Given the description of an element on the screen output the (x, y) to click on. 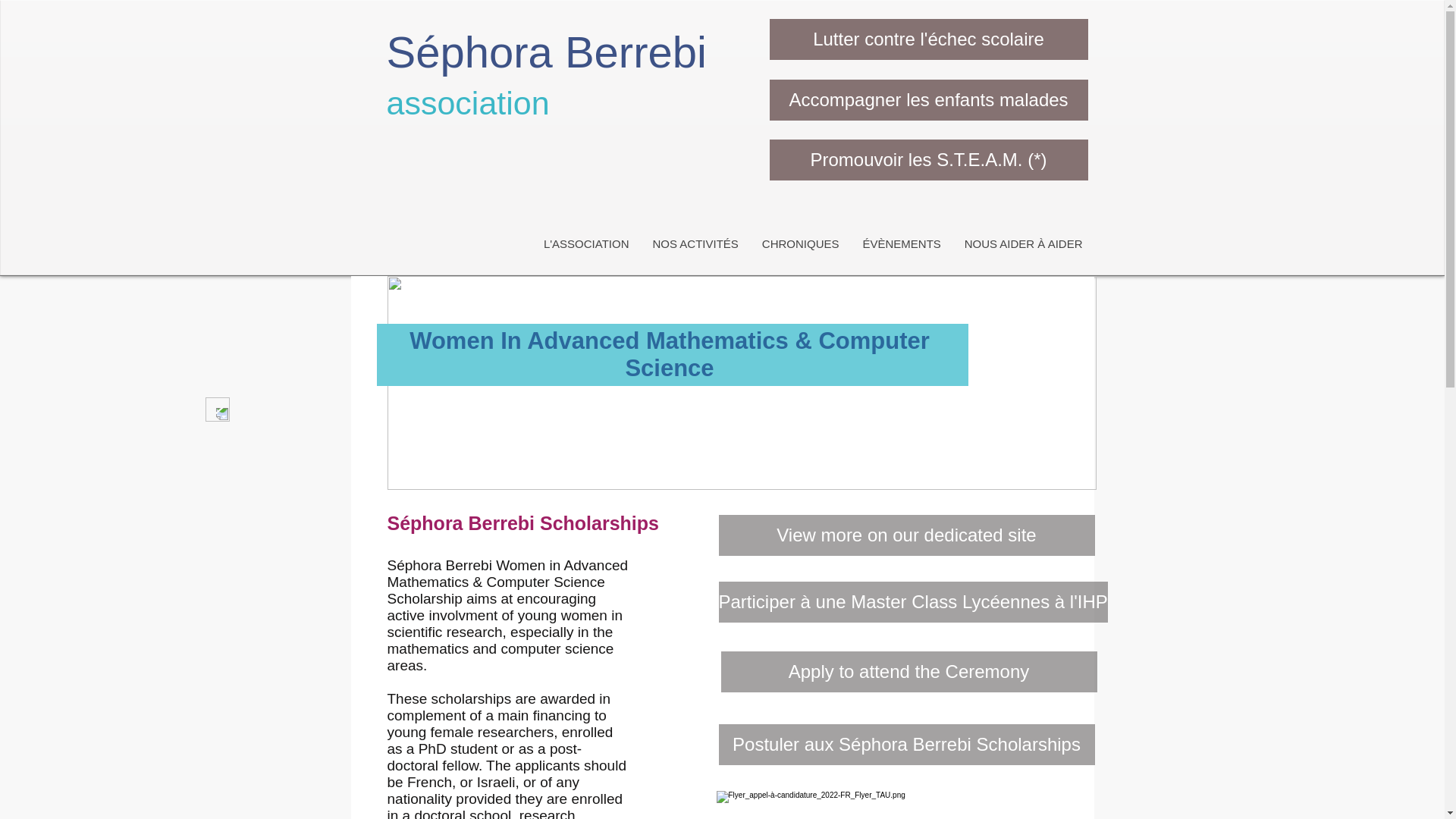
Apply to attend the Ceremony (908, 671)
Accompagner les enfants malades (927, 99)
View more on our dedicated site (906, 535)
association (468, 103)
